Given the description of an element on the screen output the (x, y) to click on. 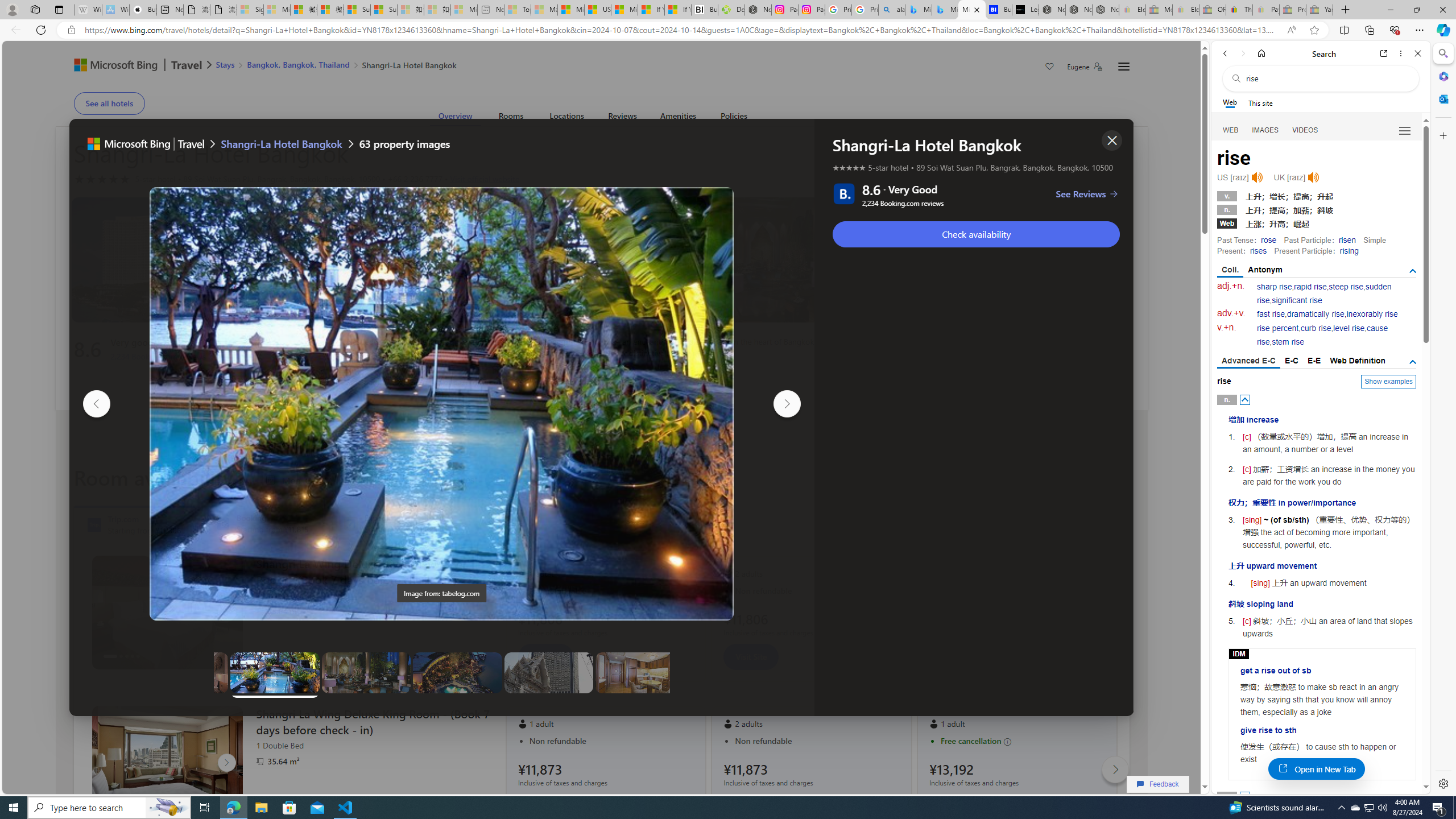
Click to listen (1313, 177)
rises (1257, 250)
sudden rise (1323, 293)
Threats and offensive language policy | eBay (1239, 9)
E-C (1291, 360)
dramatically rise (1315, 313)
steep rise (1345, 286)
